Given the description of an element on the screen output the (x, y) to click on. 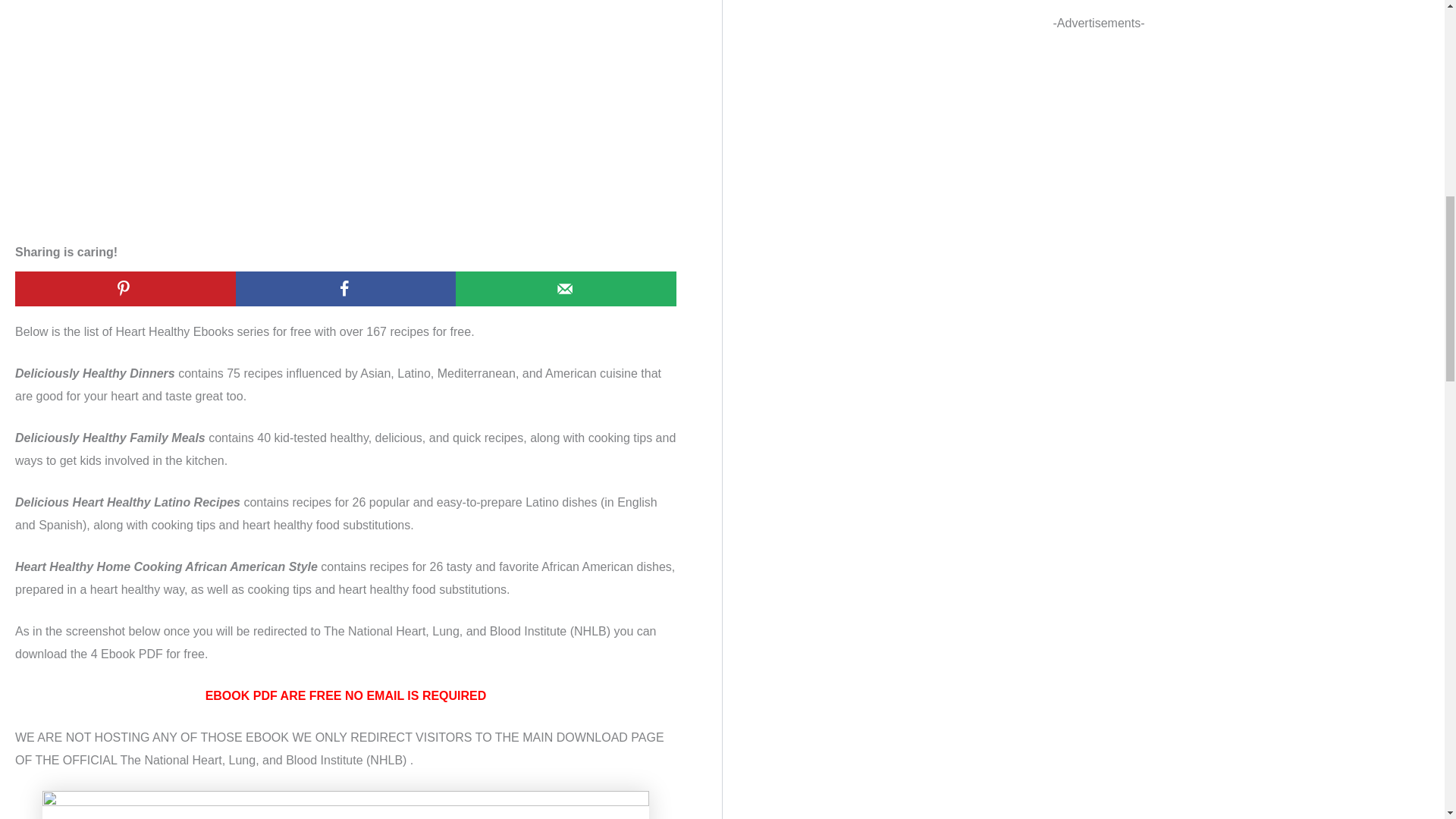
Share on Facebook (346, 288)
Save to Pinterest (124, 288)
Send over email (566, 288)
